Given the description of an element on the screen output the (x, y) to click on. 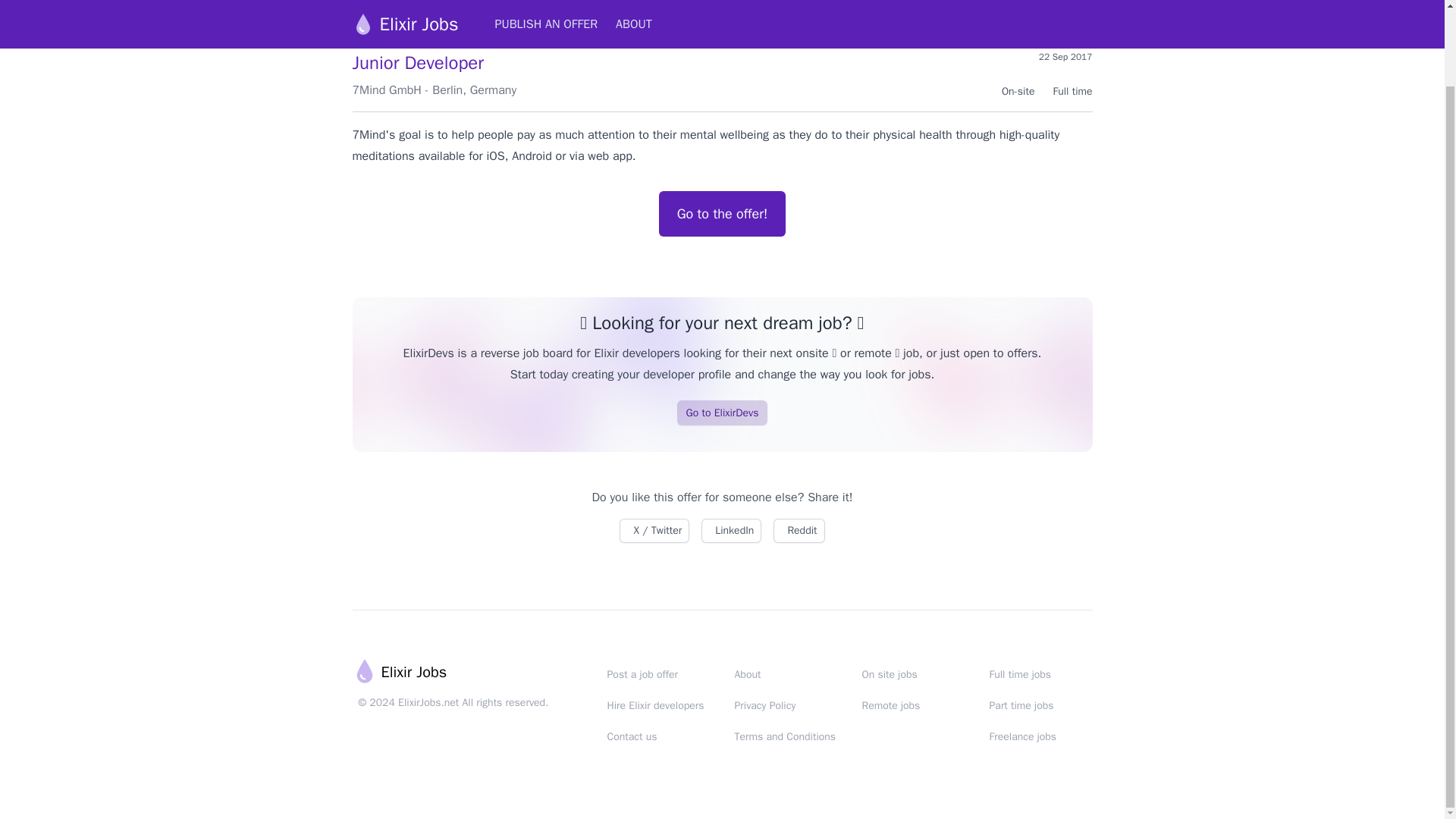
Post a job offer (642, 674)
Part time jobs (1020, 705)
Hire Elixir developers (655, 705)
About (746, 674)
LinkedIn (731, 530)
Back (364, 17)
Full time jobs (1019, 674)
Elixir Jobs (399, 671)
Contact us (631, 736)
Reddit (798, 530)
